Given the description of an element on the screen output the (x, y) to click on. 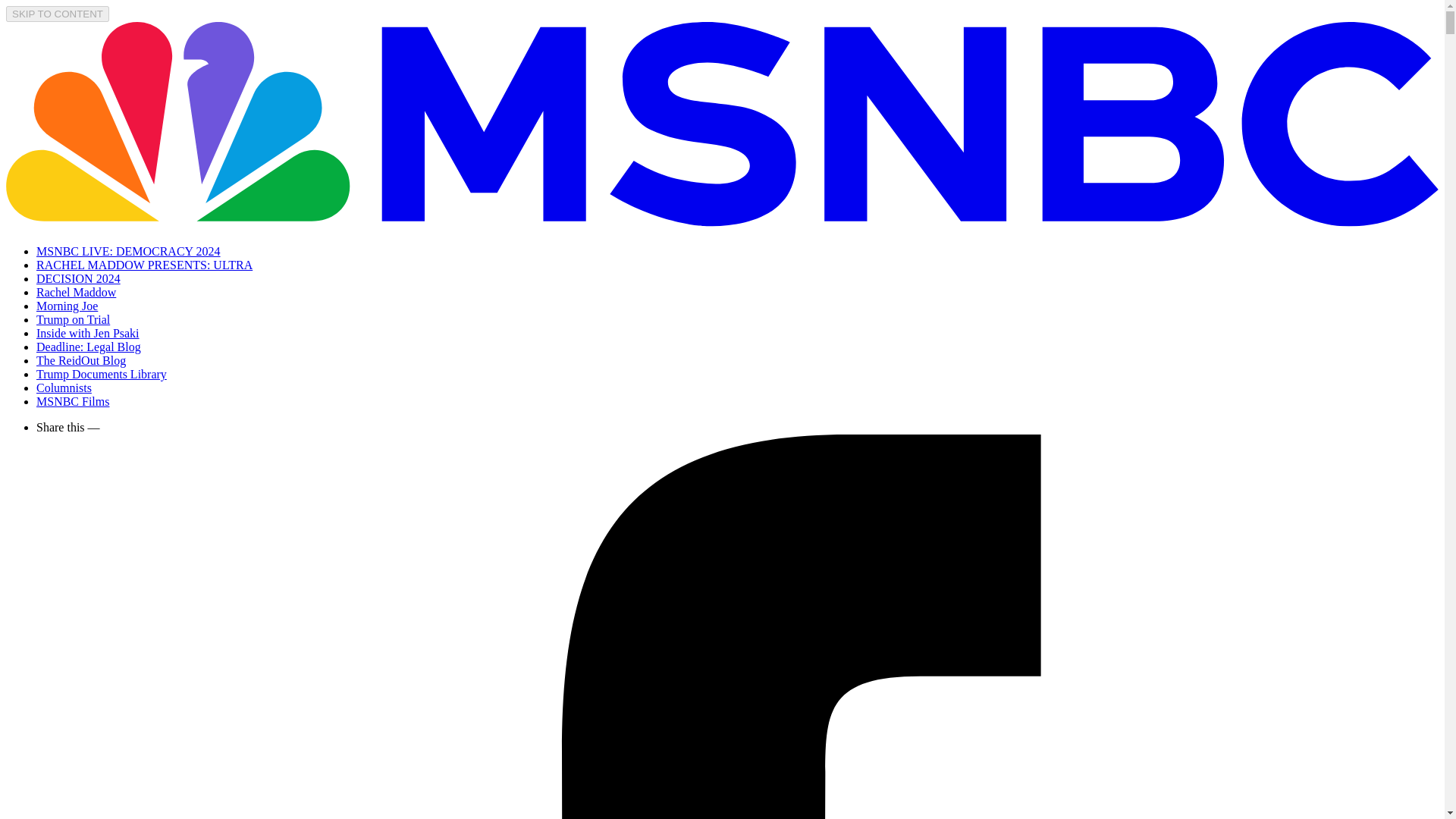
Rachel Maddow (76, 291)
MSNBC Films (72, 400)
RACHEL MADDOW PRESENTS: ULTRA (143, 264)
MSNBC LIVE: DEMOCRACY 2024 (128, 250)
SKIP TO CONTENT (57, 13)
The ReidOut Blog (80, 359)
DECISION 2024 (78, 278)
Trump on Trial (73, 318)
Trump Documents Library (101, 373)
Inside with Jen Psaki (87, 332)
Morning Joe (66, 305)
Deadline: Legal Blog (88, 346)
Columnists (63, 387)
